Given the description of an element on the screen output the (x, y) to click on. 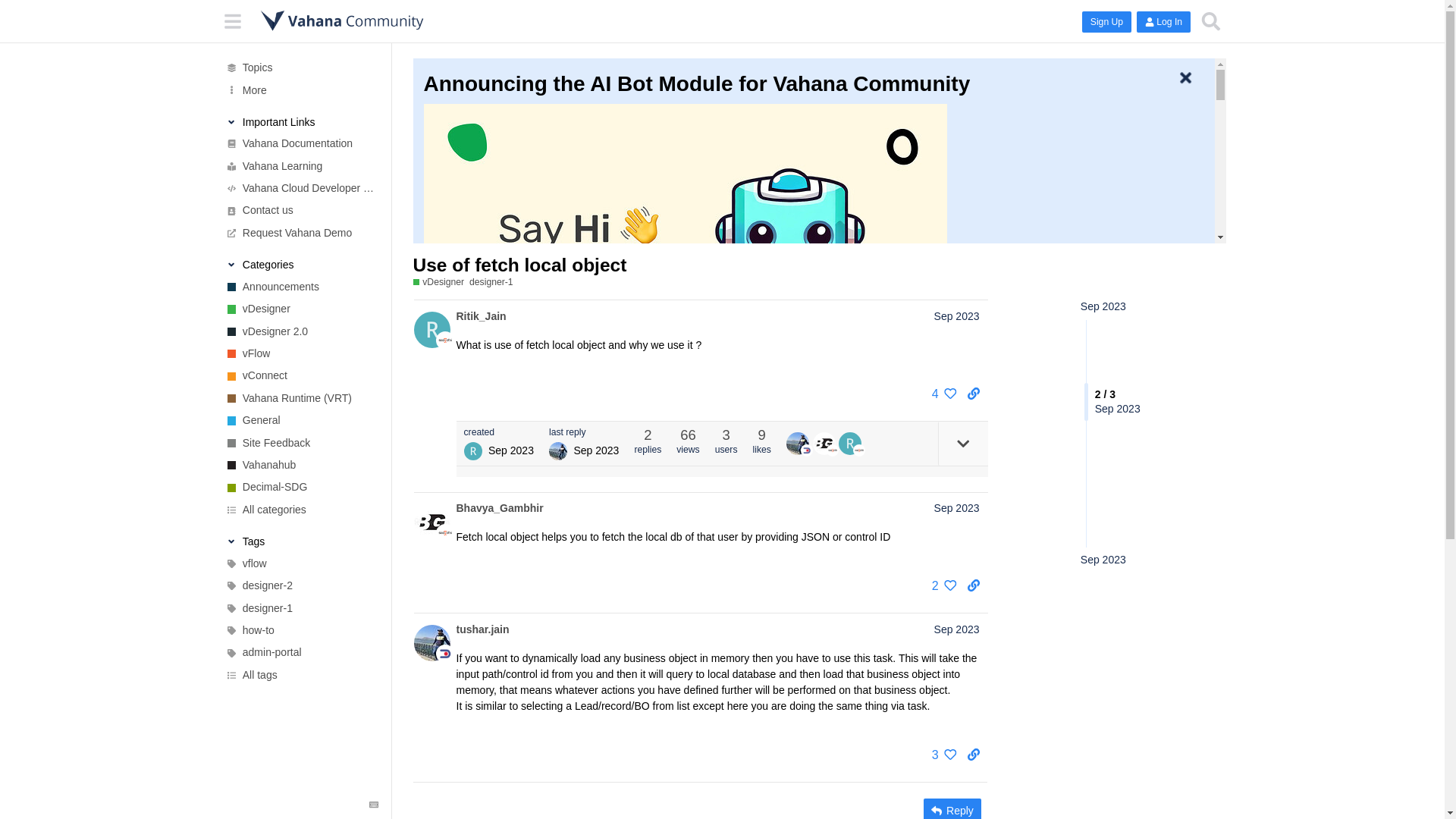
More (300, 89)
designer-1 (300, 608)
how-to (300, 630)
Sidebar (232, 21)
vDesigner 2.0 (300, 332)
Toggle section (300, 541)
Sign Up (1106, 21)
designer-2 (300, 585)
Vahana Cloud Developer Portal (300, 188)
